Given the description of an element on the screen output the (x, y) to click on. 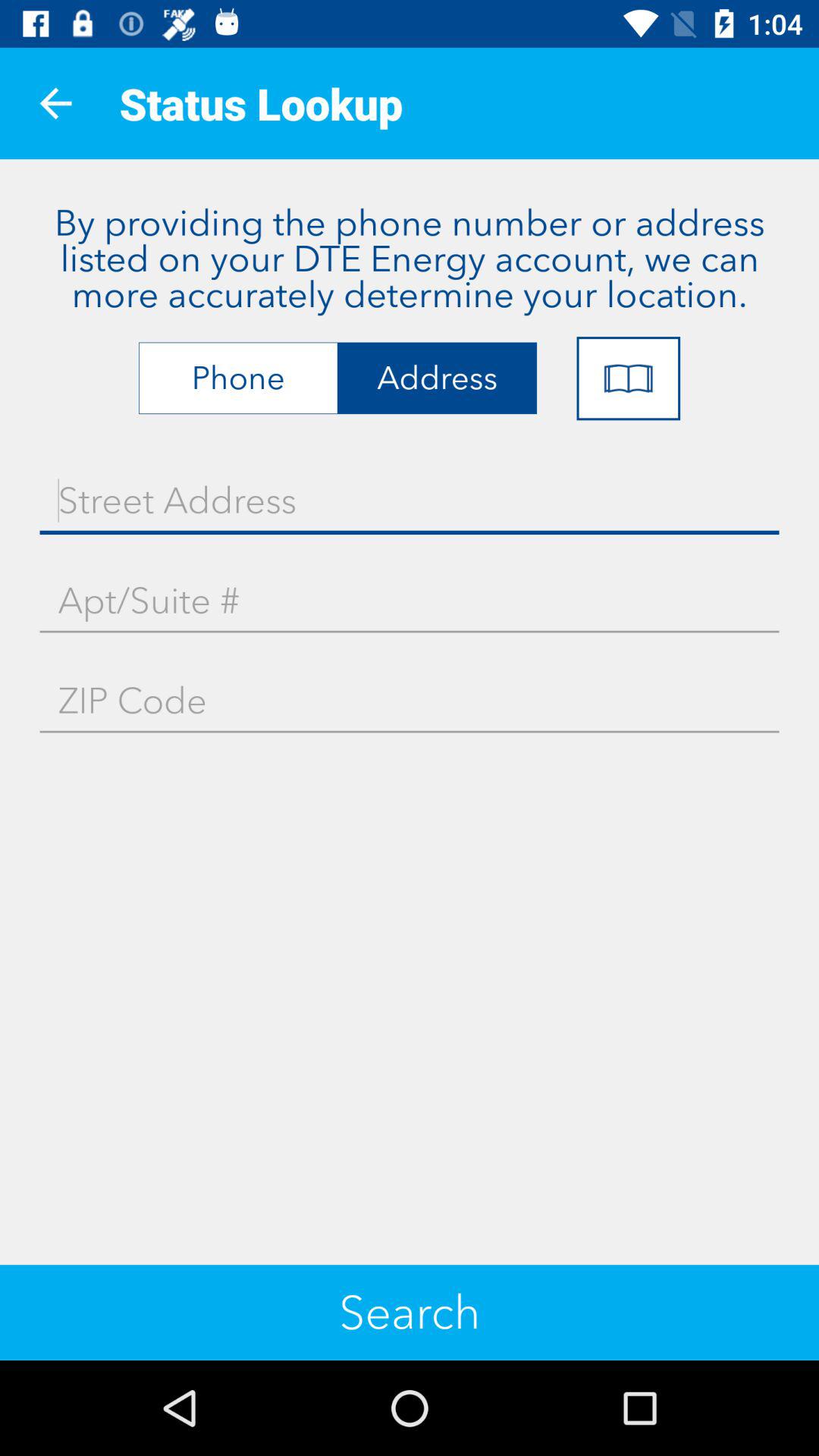
turn on the search icon (409, 1312)
